Given the description of an element on the screen output the (x, y) to click on. 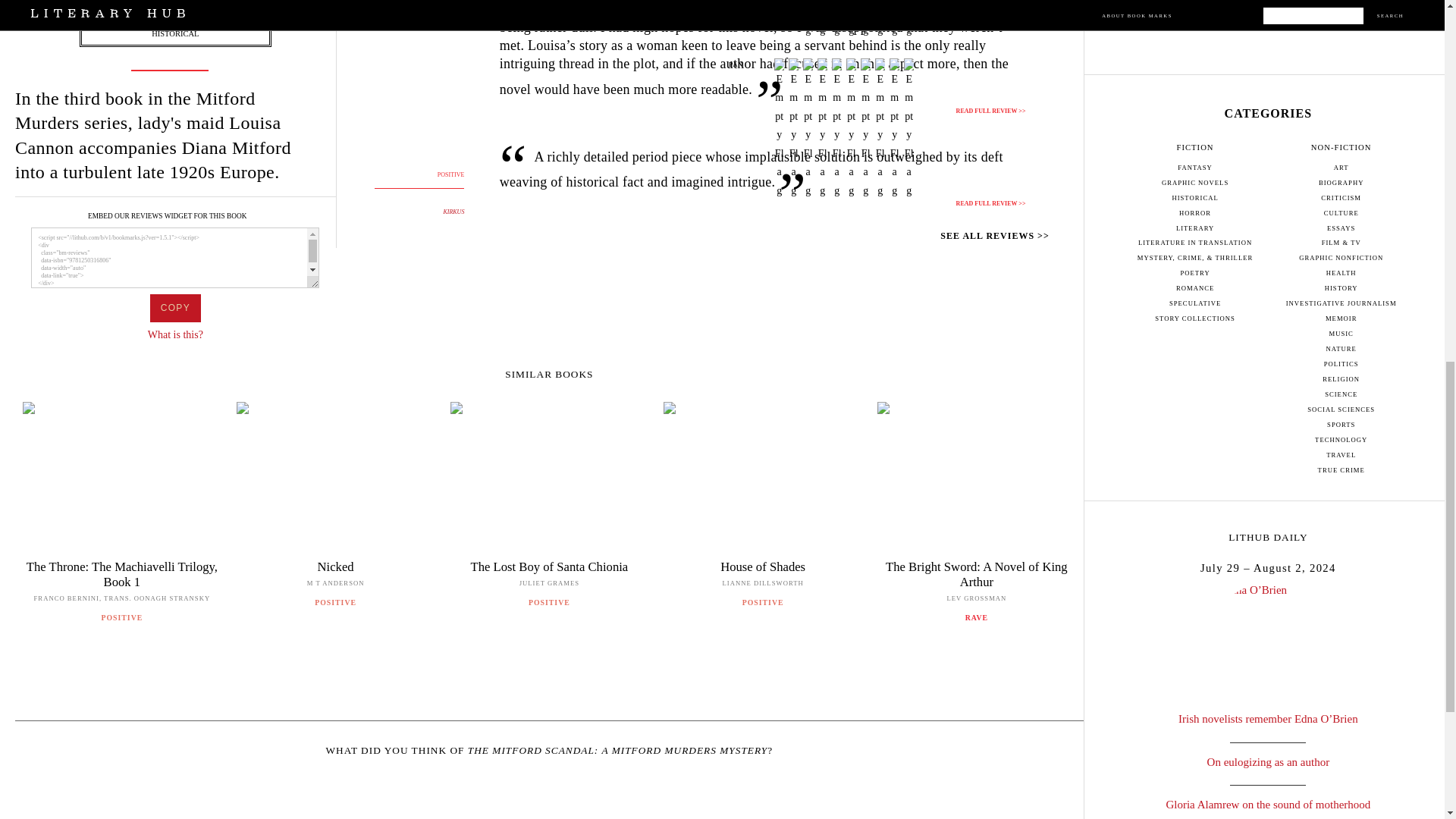
KIRKUS (453, 211)
What is this? (175, 334)
HISTORICAL (174, 33)
Sign up (1267, 4)
Copy (174, 308)
FICTION (175, 19)
